Given the description of an element on the screen output the (x, y) to click on. 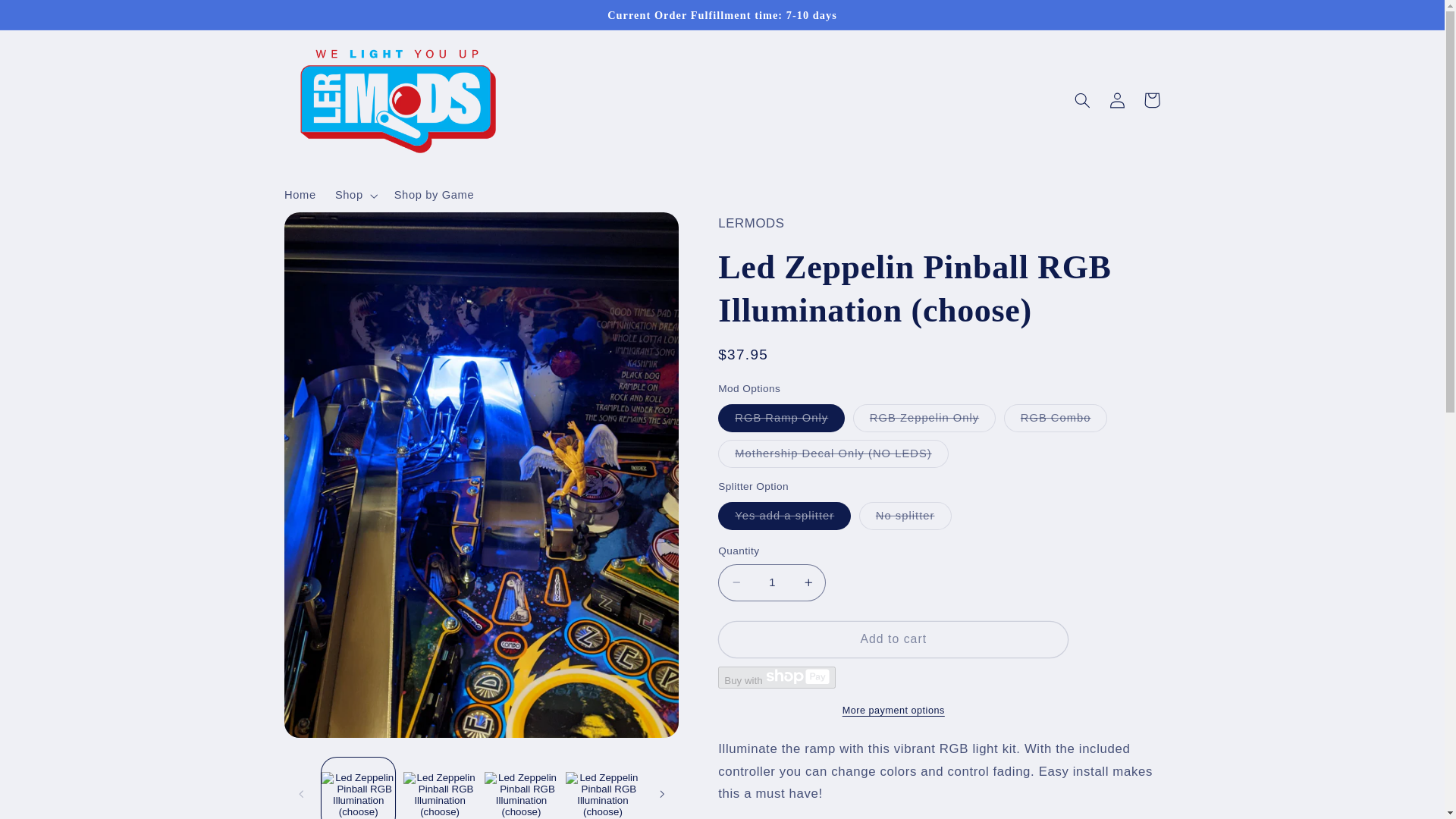
Skip to content (48, 18)
1 (771, 582)
Log in (1116, 99)
Skip to product information (331, 229)
Cart (1151, 99)
Shop by Game (433, 195)
Home (299, 195)
